Given the description of an element on the screen output the (x, y) to click on. 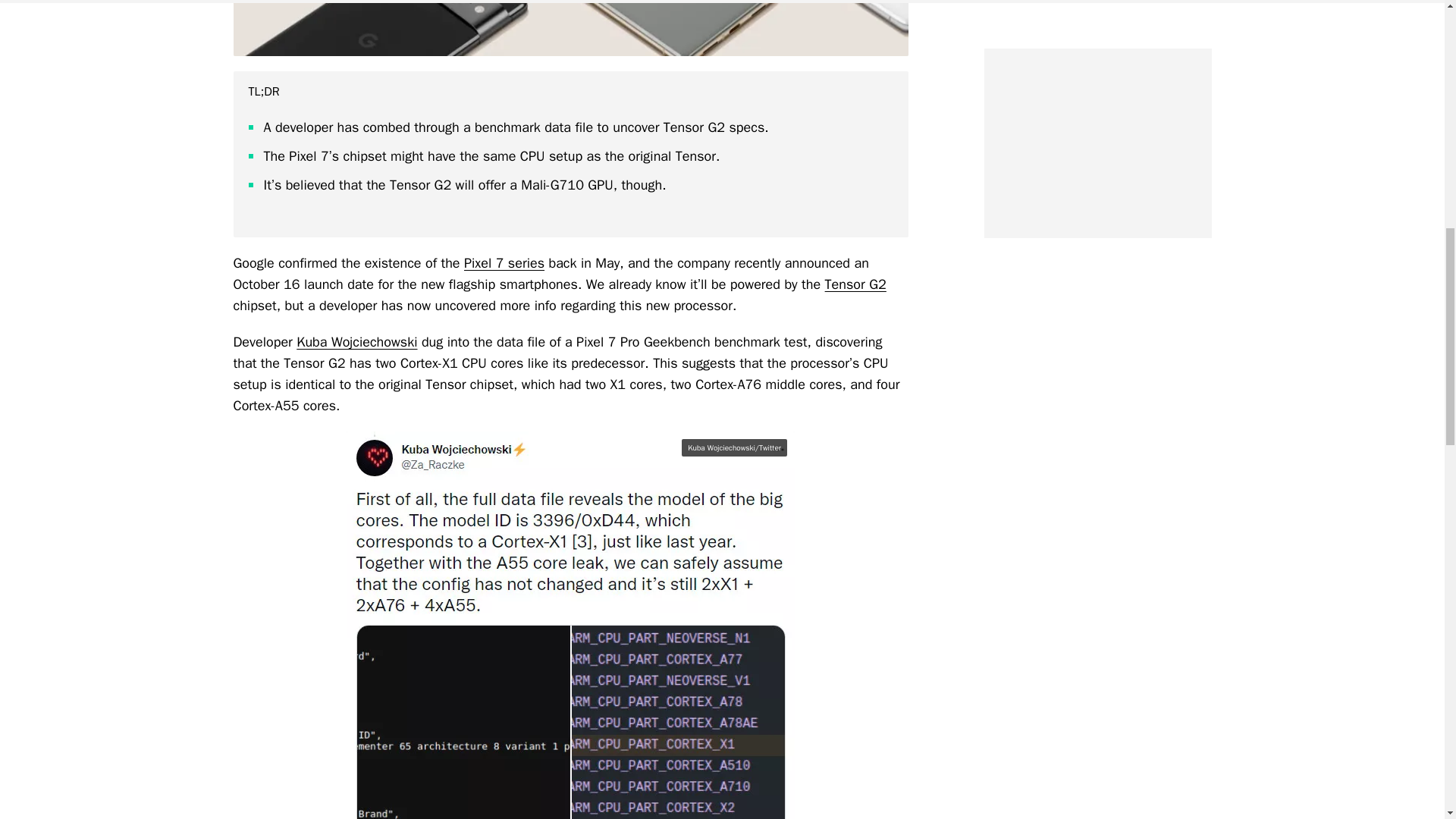
Kuba Wojciechowski (356, 341)
Google Pixel 7 series colorways Google (570, 28)
Tensor G2 (855, 284)
Pixel 7 series (504, 262)
